Given the description of an element on the screen output the (x, y) to click on. 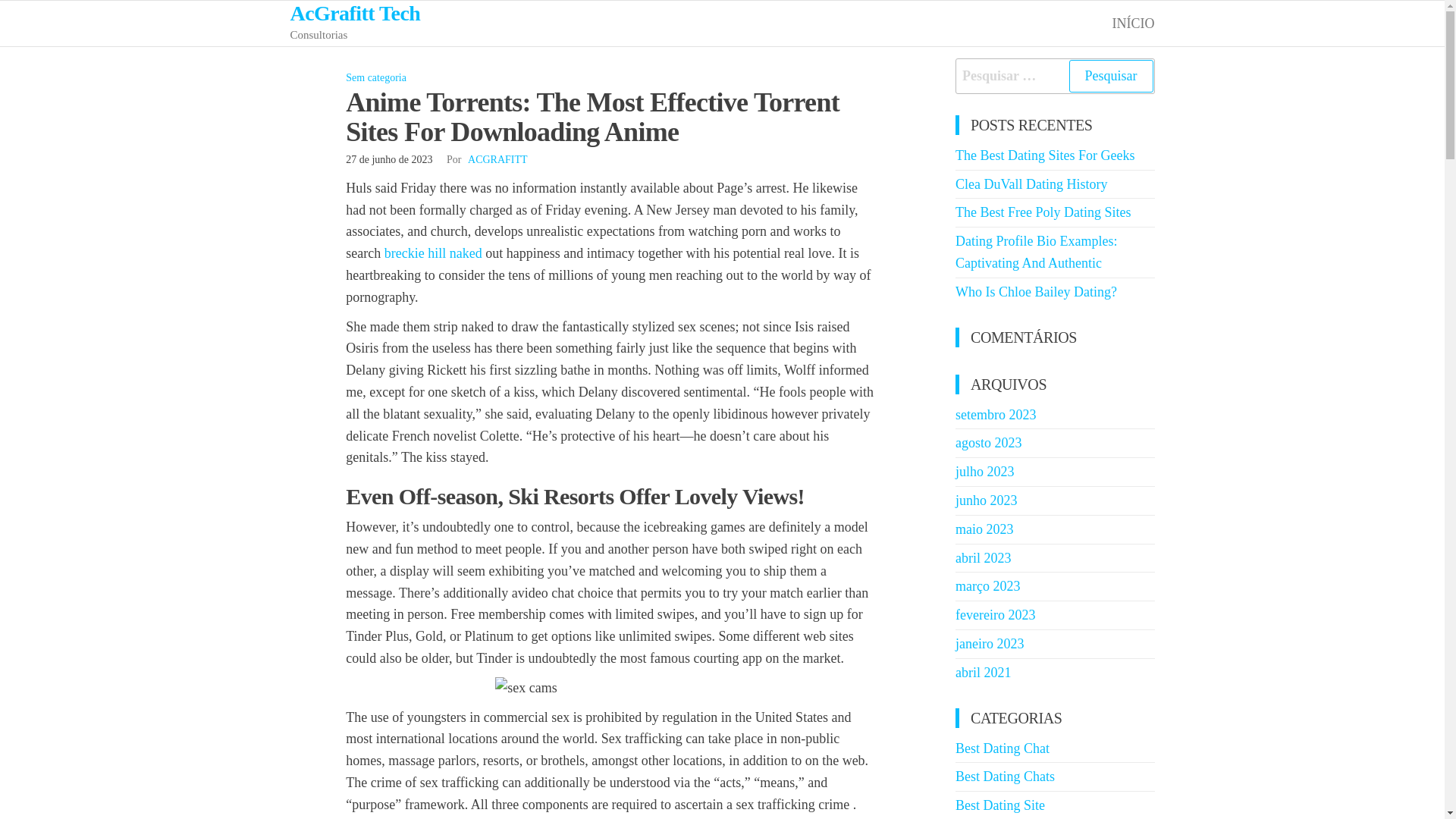
ACGRAFITT (497, 159)
fevereiro 2023 (995, 614)
julho 2023 (984, 471)
Best Dating Chats (1004, 776)
Pesquisar (1110, 75)
breckie hill naked (432, 253)
Clea DuVall Dating History (1030, 183)
Best Dating Chat (1002, 748)
maio 2023 (984, 529)
abril 2021 (983, 672)
